Given the description of an element on the screen output the (x, y) to click on. 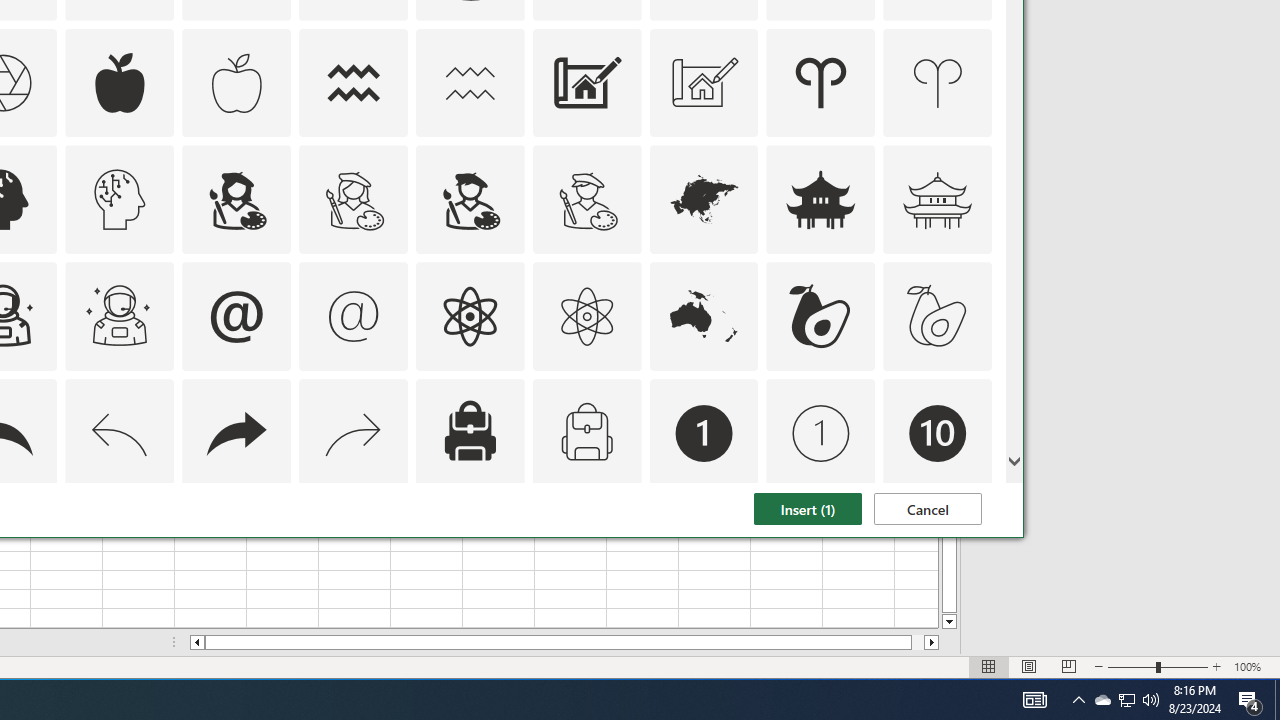
Action Center, 4 new notifications (1250, 699)
AutomationID: Icons_Atom_M (586, 316)
AutomationID: Icons_ArtistFemale_M (353, 200)
AutomationID: Icons_At_M (353, 316)
AutomationID: Icons_Australia (703, 316)
AutomationID: Icons_ArtistMale_M (586, 200)
AutomationID: Icons_Badge8 (586, 550)
AutomationID: Icons_Badge10 (938, 434)
